Given the description of an element on the screen output the (x, y) to click on. 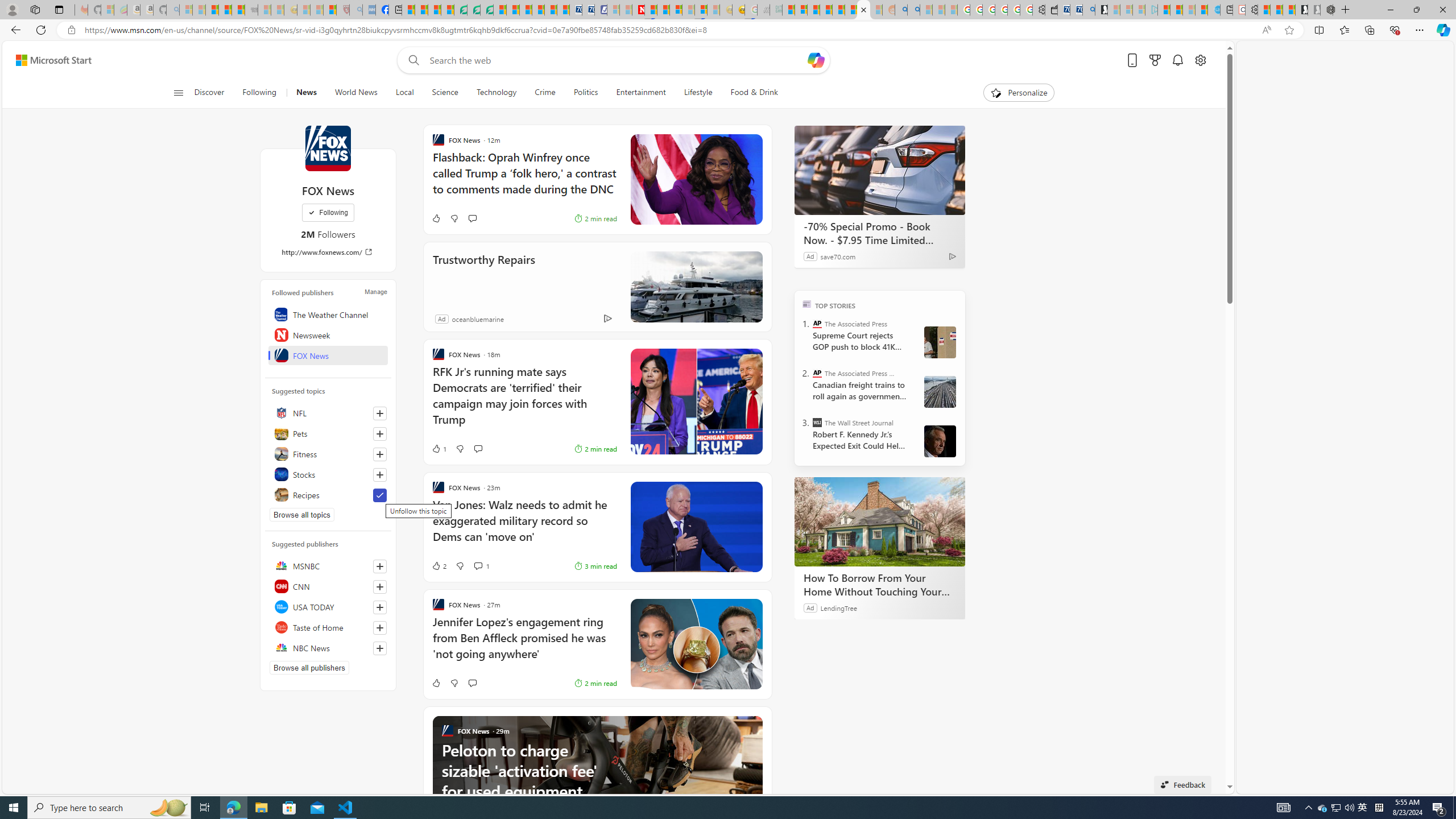
Fitness (327, 453)
Microsoft Word - consumer-privacy address update 2.2021 (486, 9)
FOX News - MSN (864, 9)
save70.com (837, 256)
